Given the description of an element on the screen output the (x, y) to click on. 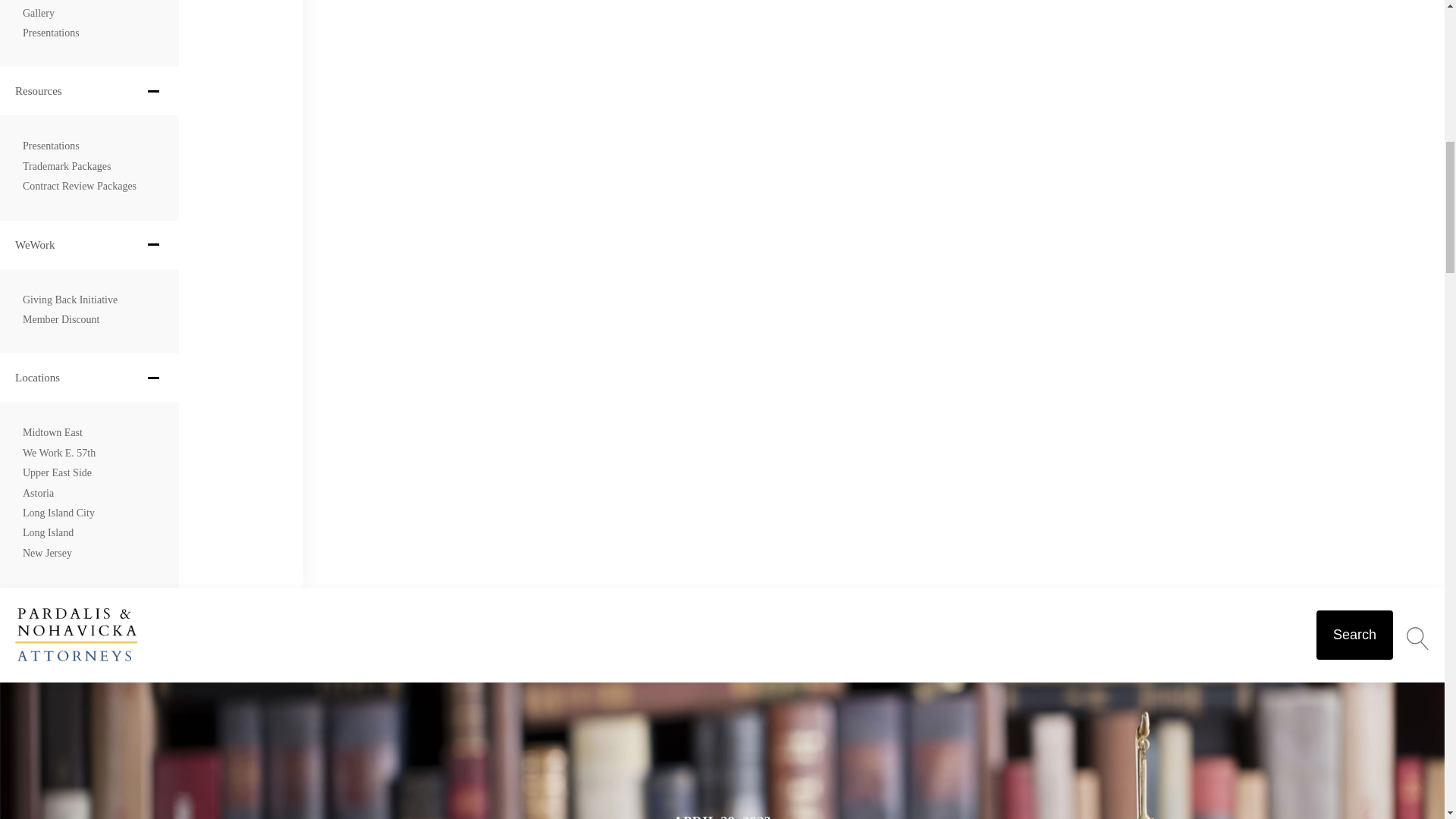
Long Island City (58, 513)
Presentations (51, 33)
New Jersey (47, 553)
Contract Review Packages (79, 186)
Midtown East (52, 433)
Gallery (39, 13)
Astoria (38, 493)
Trademark Packages (67, 166)
Member Discount (61, 320)
We Work E. 57th (59, 453)
